Given the description of an element on the screen output the (x, y) to click on. 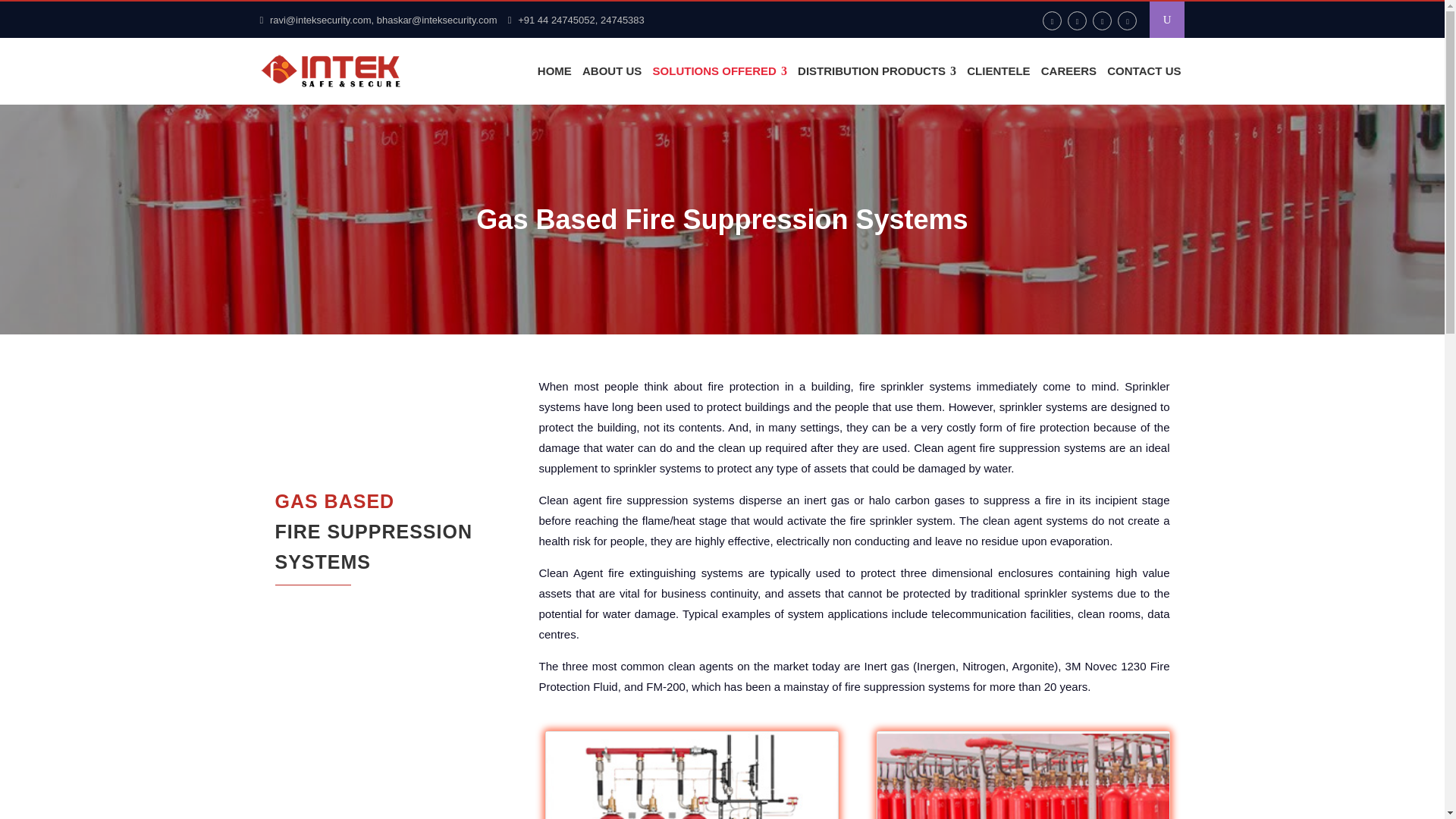
youtube (1127, 20)
instagram (1076, 20)
ABOUT US (611, 70)
HOME (554, 70)
facebook (398, 535)
linkedin (1051, 20)
